Given the description of an element on the screen output the (x, y) to click on. 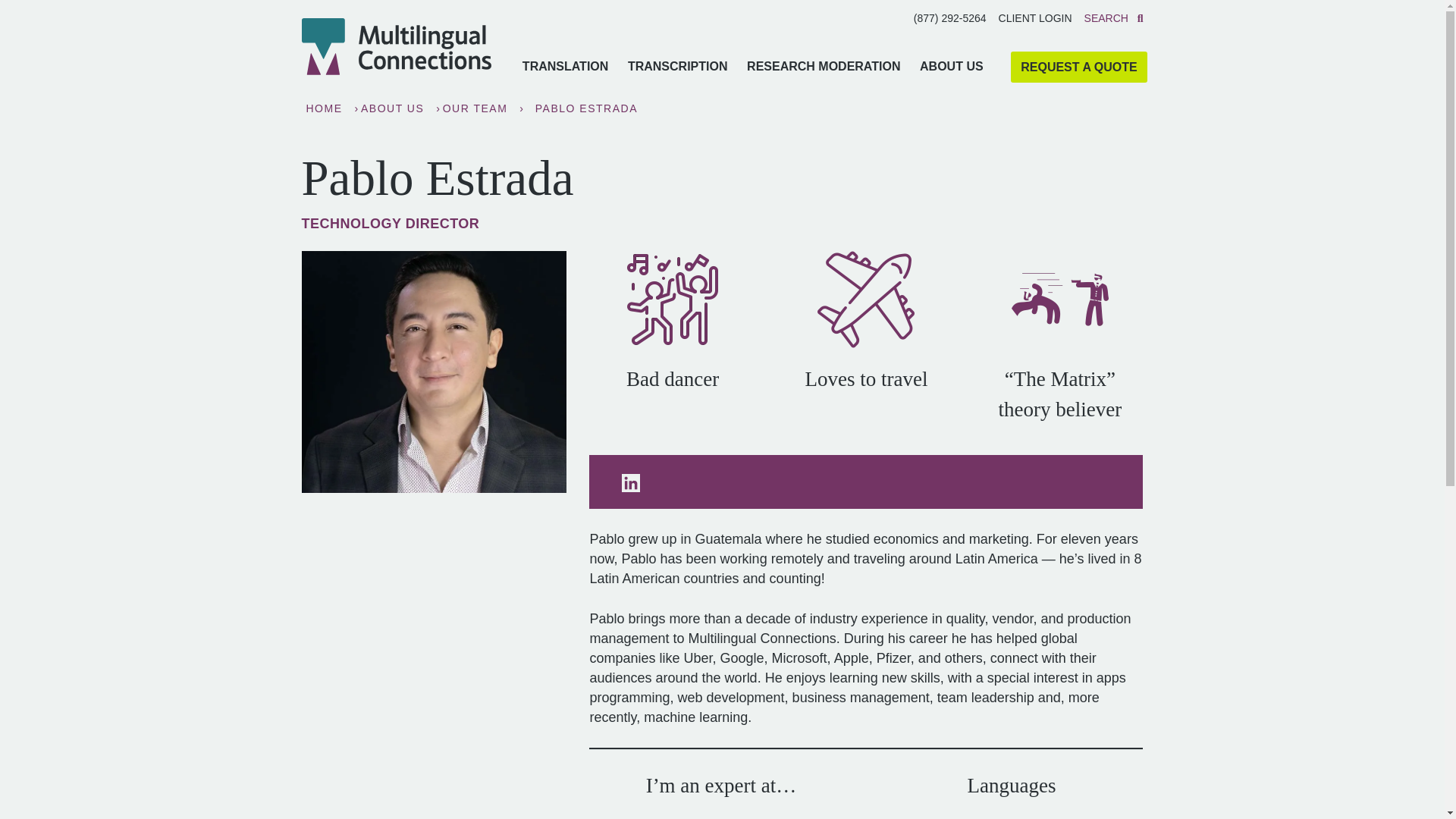
HOME (323, 108)
CLIENT LOGIN (1034, 18)
TRANSCRIPTION (676, 74)
ABOUT US (951, 74)
OUR TEAM (475, 108)
REQUEST A QUOTE (1078, 66)
ABOUT US (392, 108)
RESEARCH MODERATION (823, 74)
TRANSLATION (564, 74)
